Given the description of an element on the screen output the (x, y) to click on. 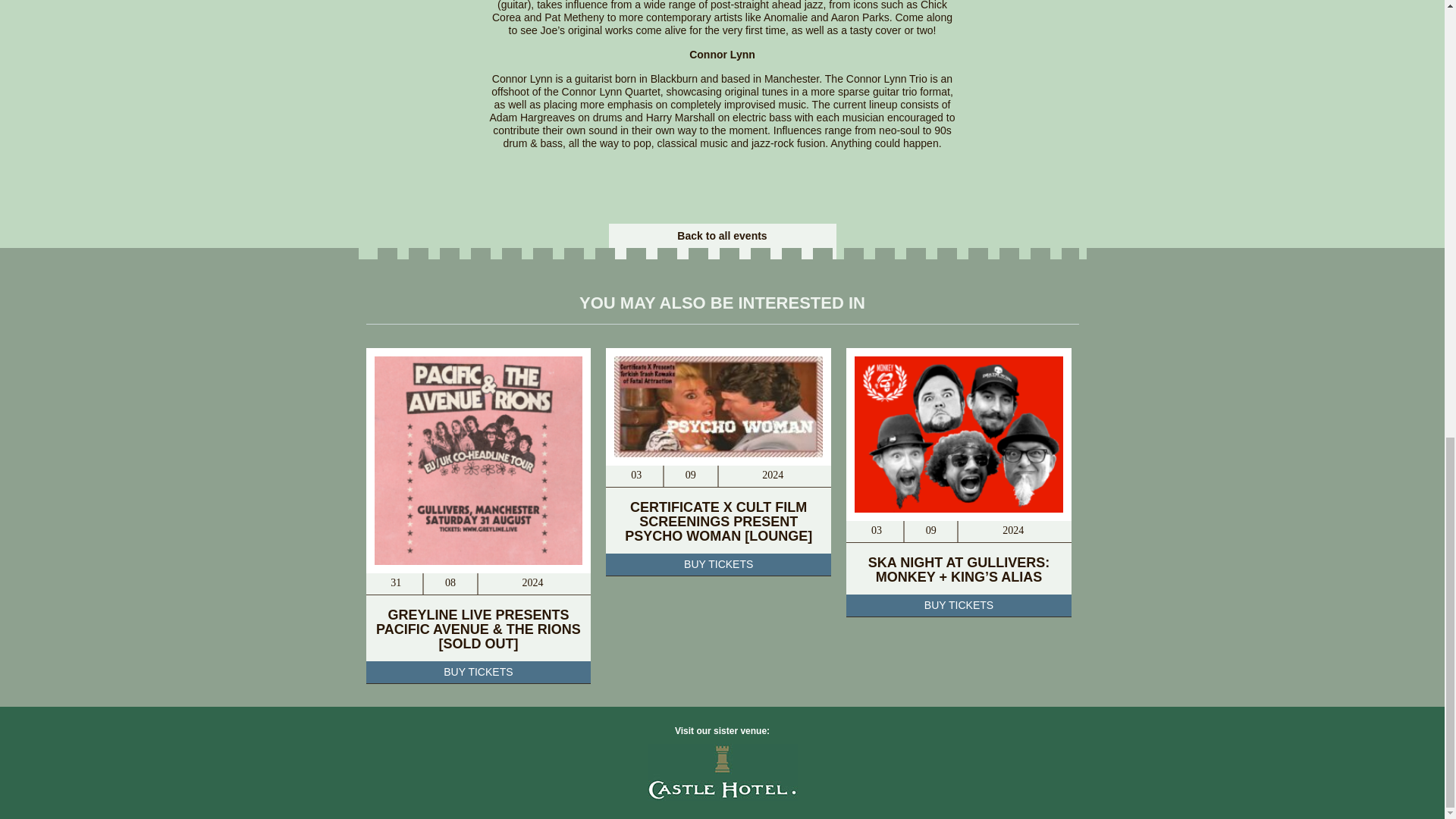
BUY TICKETS (718, 564)
BUY TICKETS (478, 671)
Back to all events (722, 235)
BUY TICKETS (958, 605)
